Given the description of an element on the screen output the (x, y) to click on. 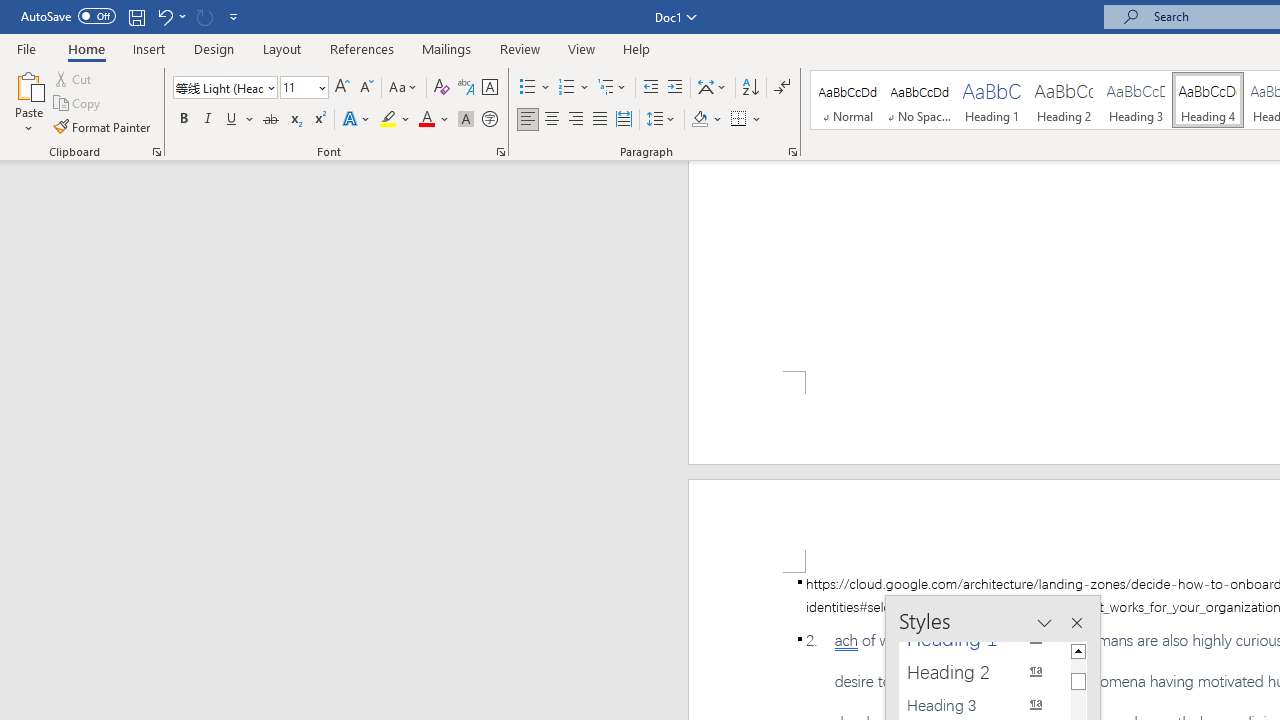
Undo Style (170, 15)
Review (520, 48)
File Tab (26, 48)
Font (218, 87)
Center (552, 119)
Font Color Automatic (426, 119)
Align Left (527, 119)
Bullets (535, 87)
AutoSave (68, 16)
Heading 2 (1063, 100)
Align Right (575, 119)
Grow Font (342, 87)
Font (224, 87)
Paste (28, 102)
